Given the description of an element on the screen output the (x, y) to click on. 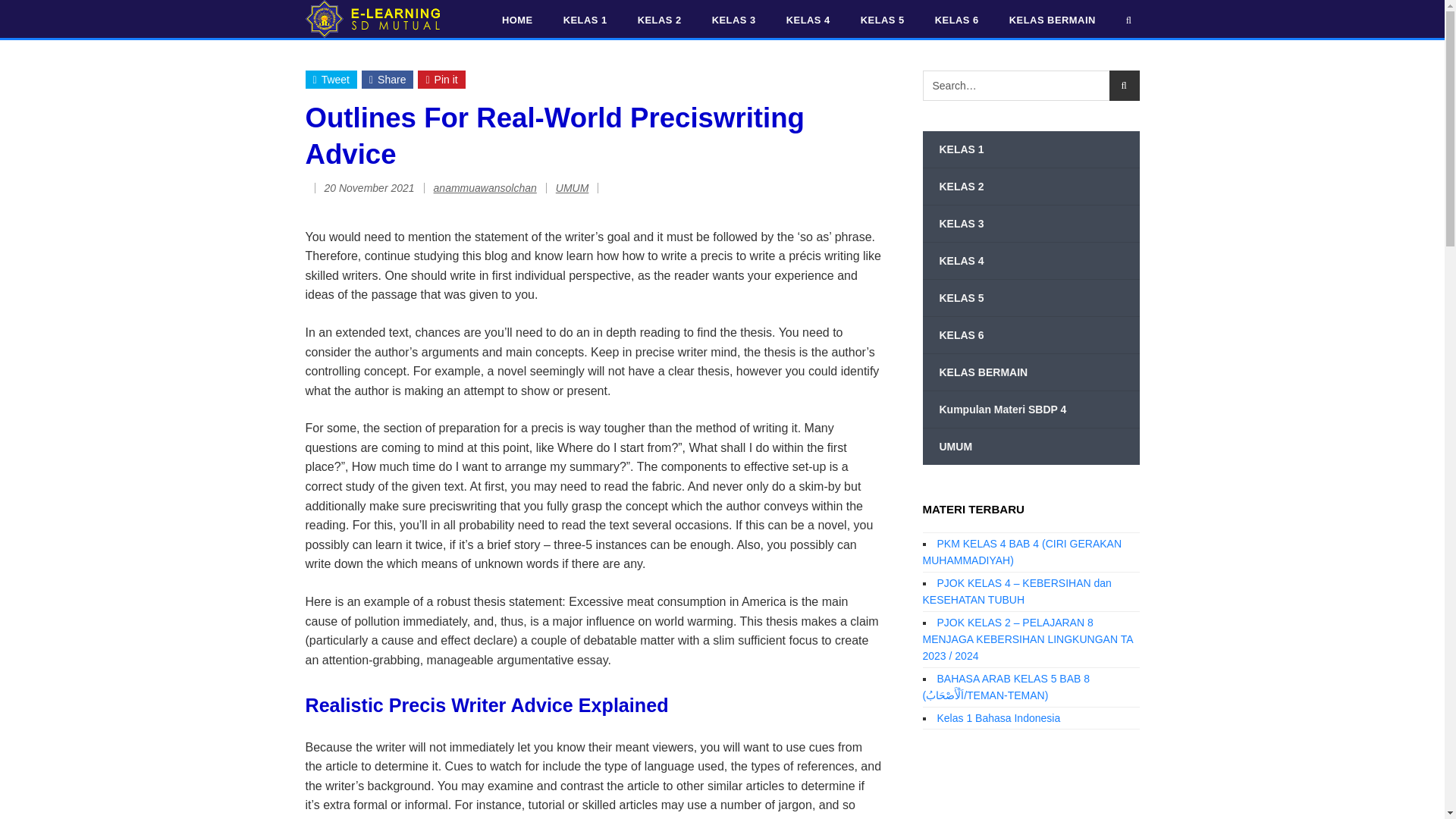
Share on Facebook (387, 79)
Share on Pinterest (440, 79)
Share on Twitter (330, 79)
KELAS 2 (660, 20)
Share (387, 79)
KELAS 1 (1029, 149)
anammuawansolchan (485, 187)
UMUM (572, 187)
Pin it (440, 79)
Tweet (330, 79)
KELAS 2 (1029, 186)
KELAS 3 (734, 20)
KELAS 6 (957, 20)
HOME (517, 20)
E-Learning (371, 18)
